Given the description of an element on the screen output the (x, y) to click on. 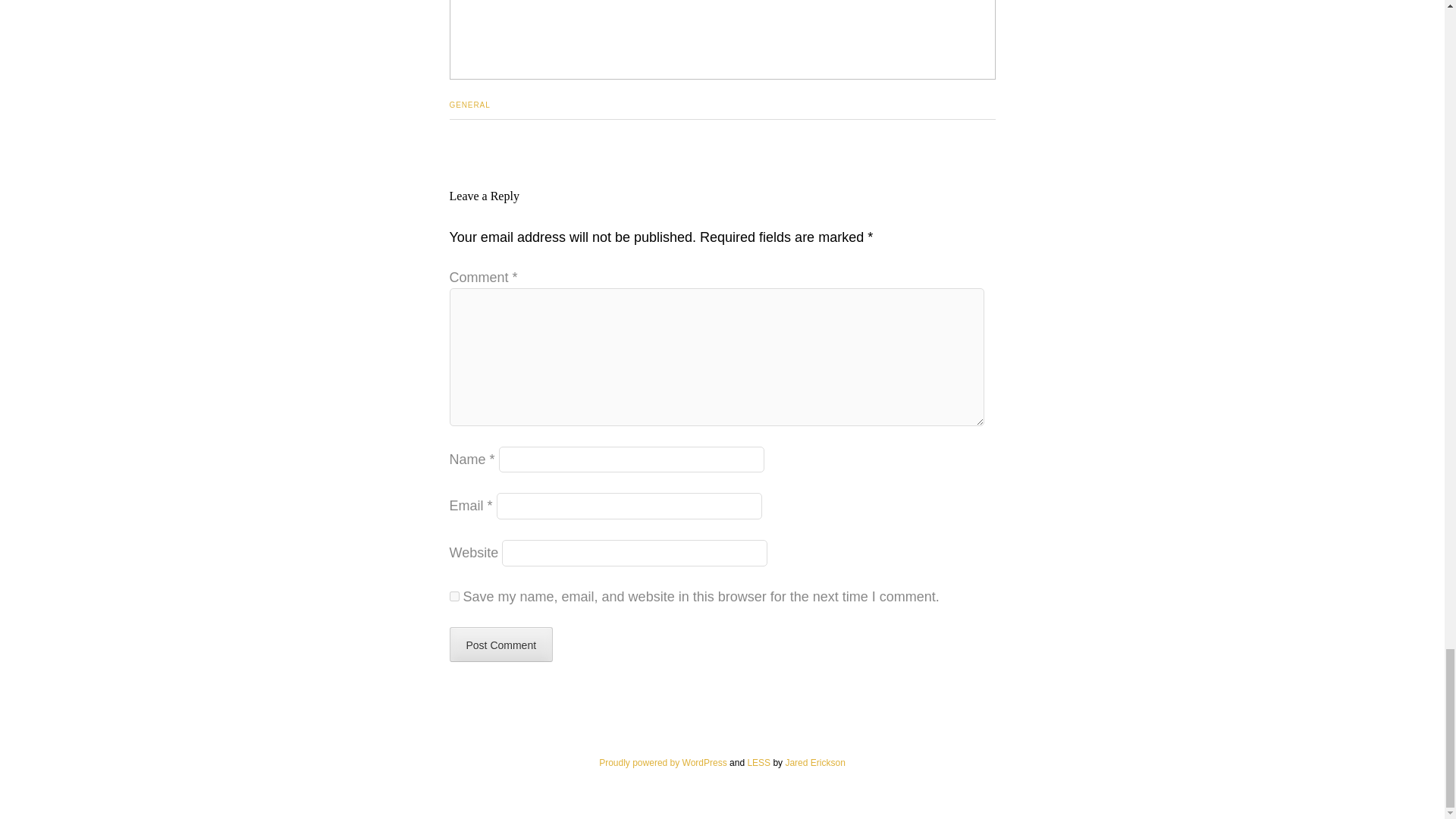
Proudly powered by WordPress (662, 762)
A Semantic Personal Publishing Platform (662, 762)
Post Comment (500, 644)
Post Comment (500, 644)
yes (453, 596)
Jared Erickson (814, 762)
LESS (758, 762)
GENERAL (468, 104)
